Given the description of an element on the screen output the (x, y) to click on. 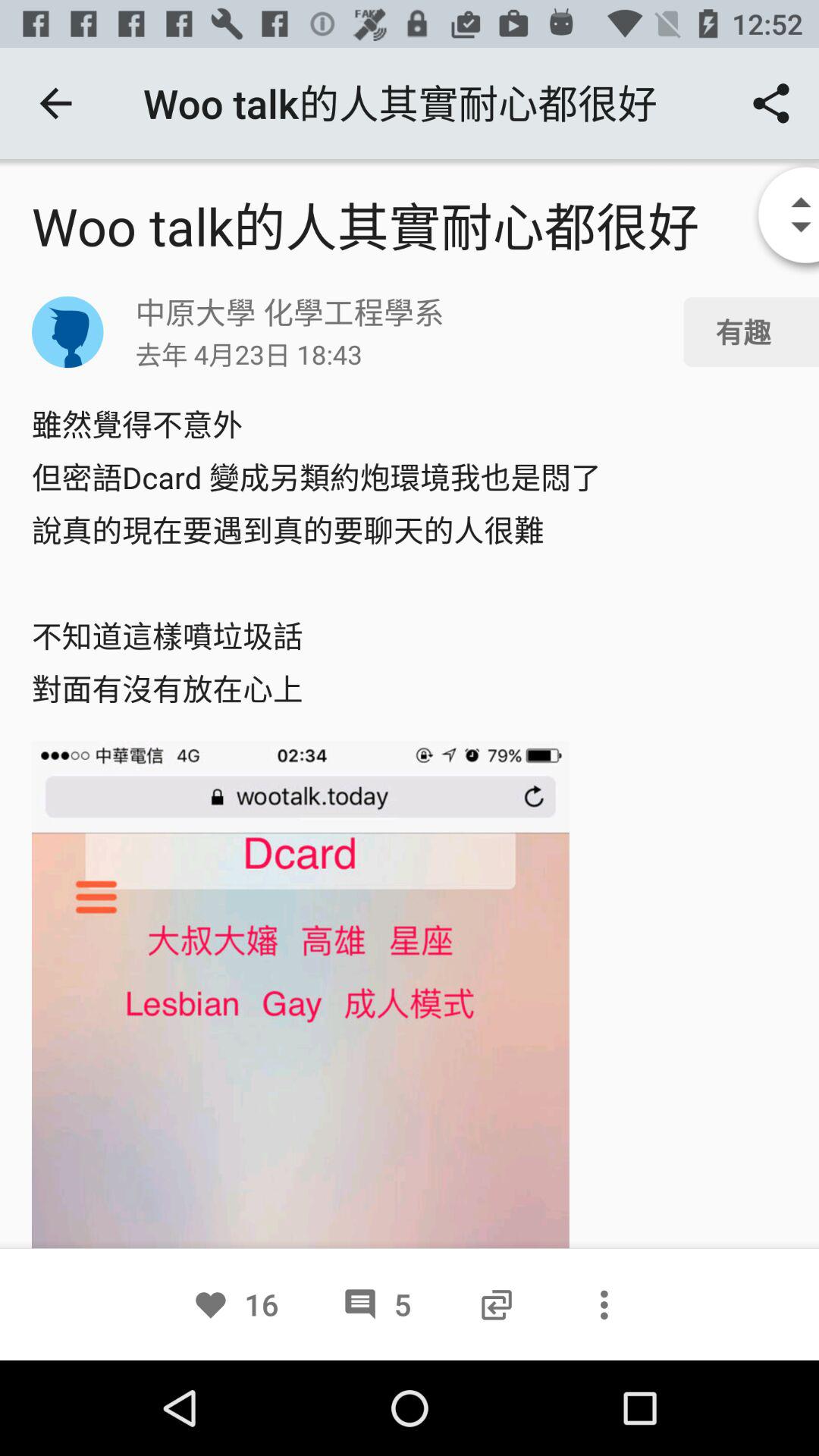
open icon at the bottom right corner (604, 1304)
